Given the description of an element on the screen output the (x, y) to click on. 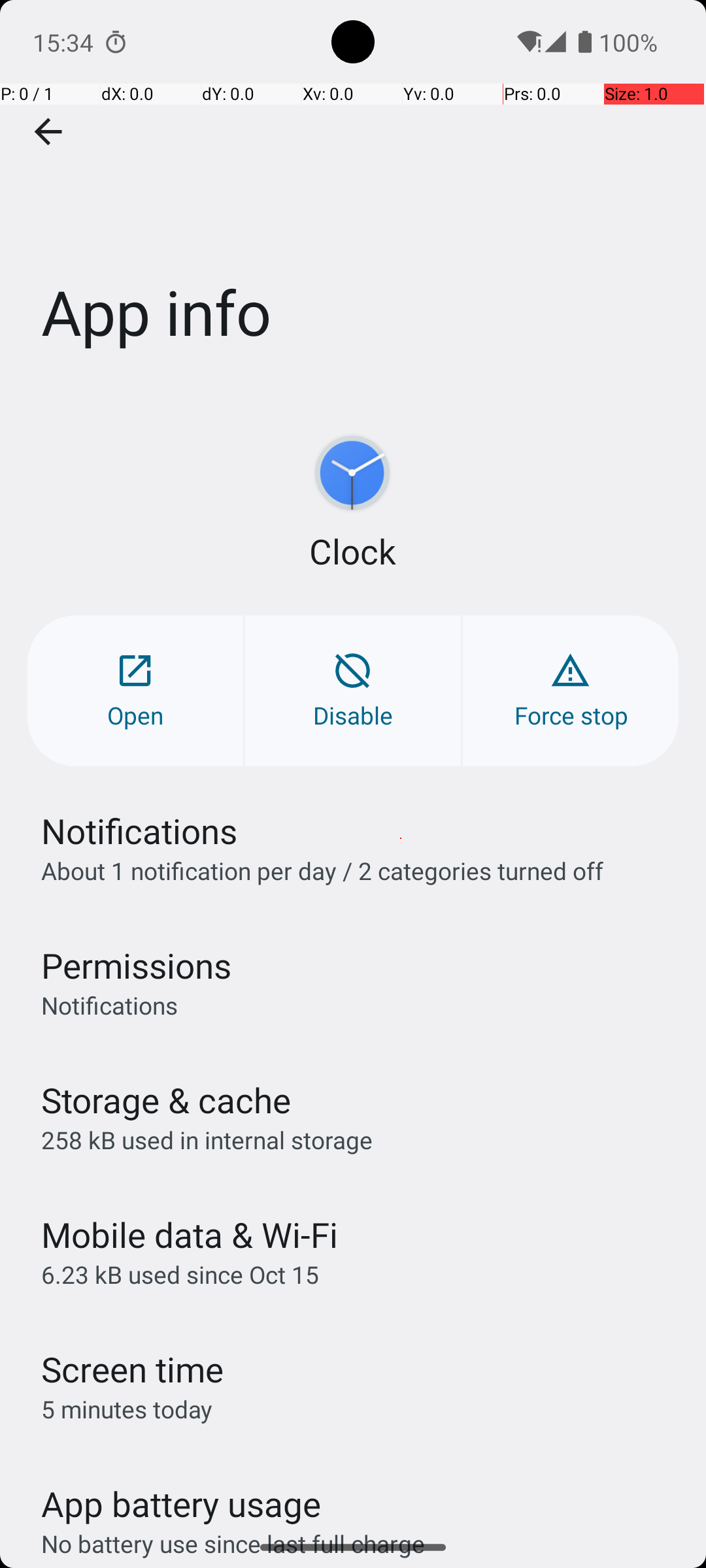
Disable Element type: android.widget.Button (352, 690)
About 1 notification per day / 2 categories turned off Element type: android.widget.TextView (322, 870)
258 kB used in internal storage Element type: android.widget.TextView (206, 1139)
6.23 kB used since Oct 15 Element type: android.widget.TextView (180, 1273)
5 minutes today Element type: android.widget.TextView (127, 1408)
